Given the description of an element on the screen output the (x, y) to click on. 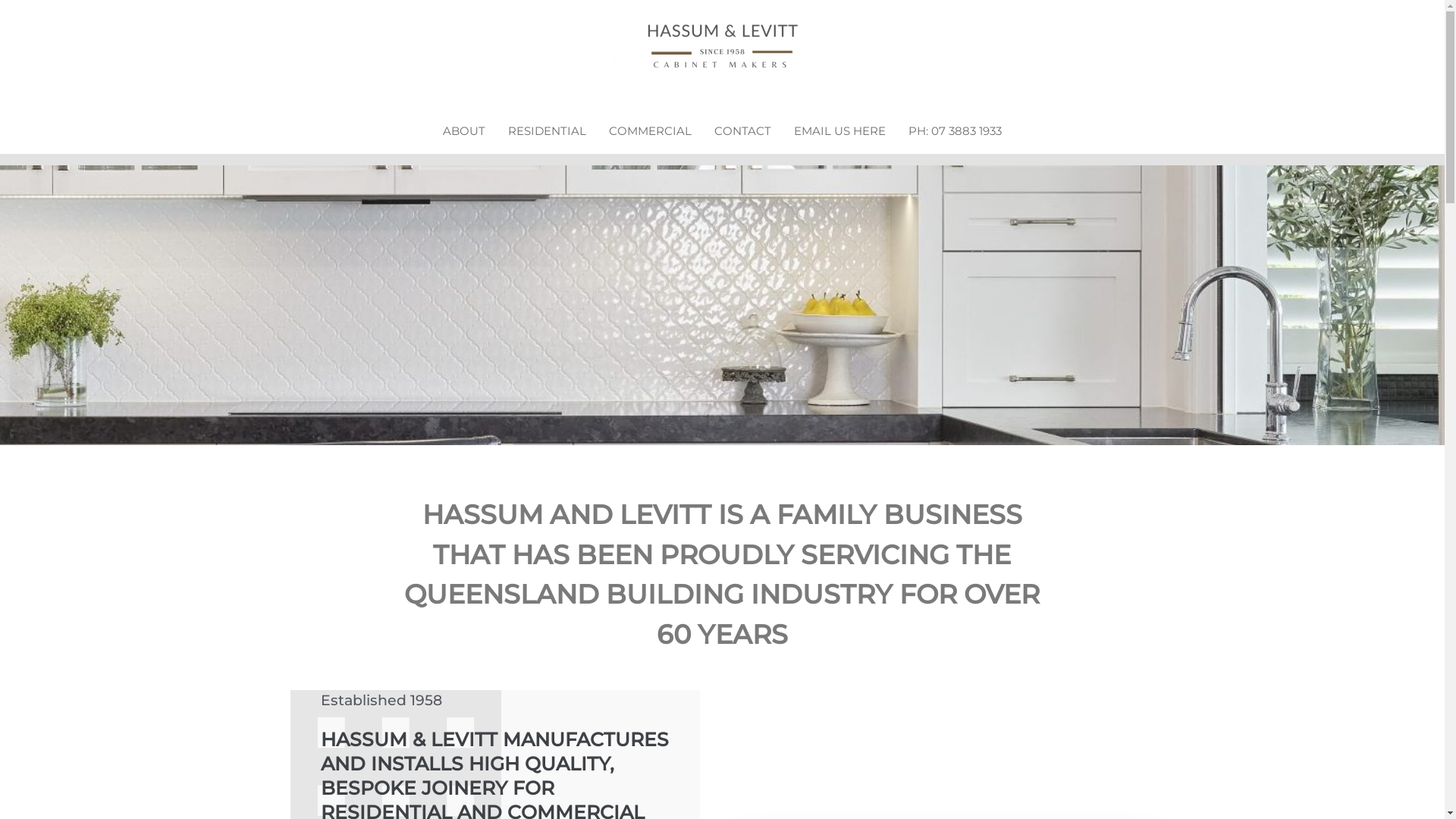
RESIDENTIAL Element type: text (546, 130)
EMAIL US HERE Element type: text (839, 130)
ABOUT Element type: text (463, 130)
COMMERCIAL Element type: text (649, 130)
CONTACT Element type: text (742, 130)
